Given the description of an element on the screen output the (x, y) to click on. 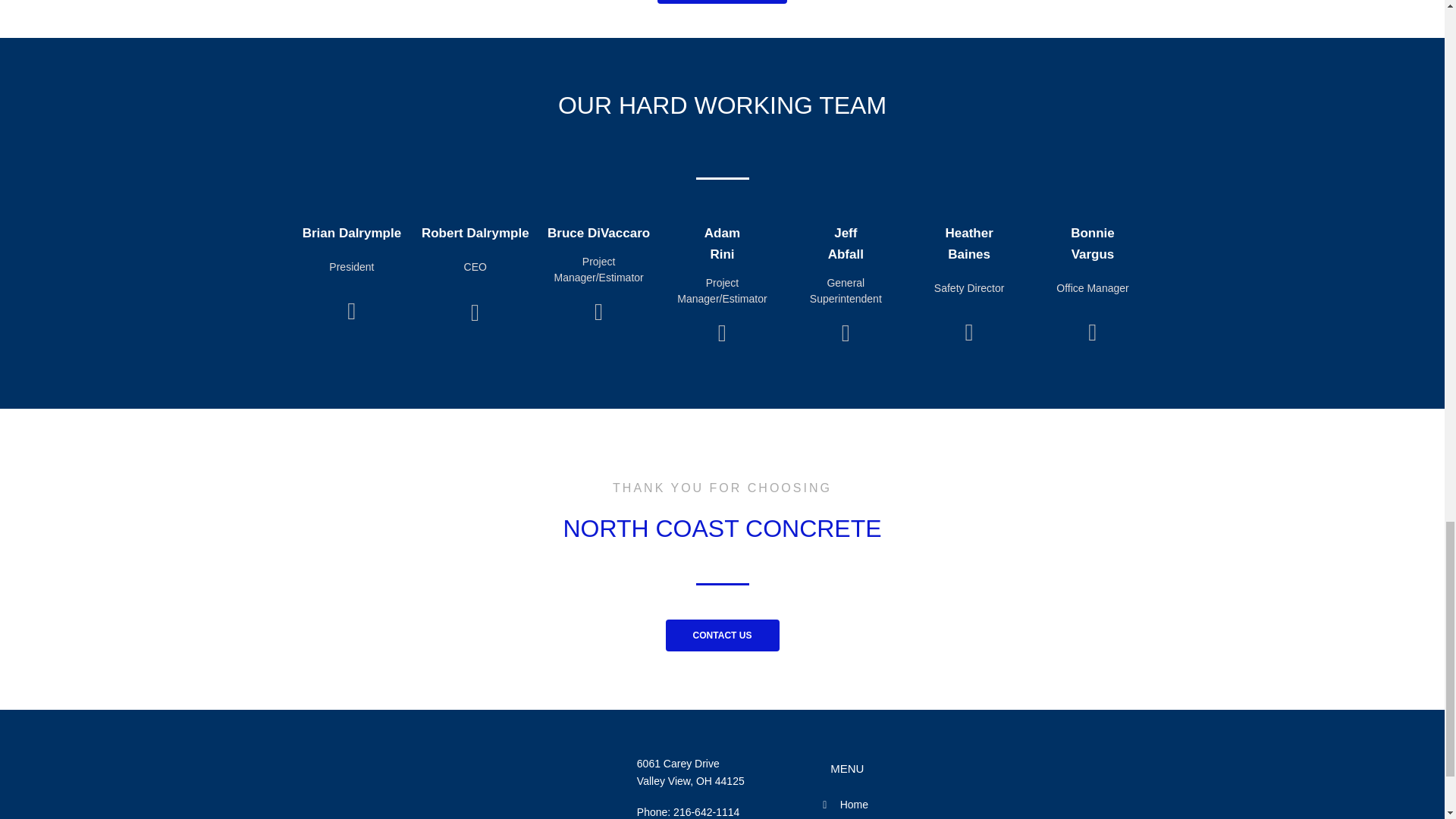
216-642-1114 (705, 811)
Projects (907, 817)
6061 Carey Drive (678, 763)
Valley View, OH 44125 (690, 780)
Home (907, 804)
CONTACT US (721, 635)
LEARN MORE (722, 2)
